Given the description of an element on the screen output the (x, y) to click on. 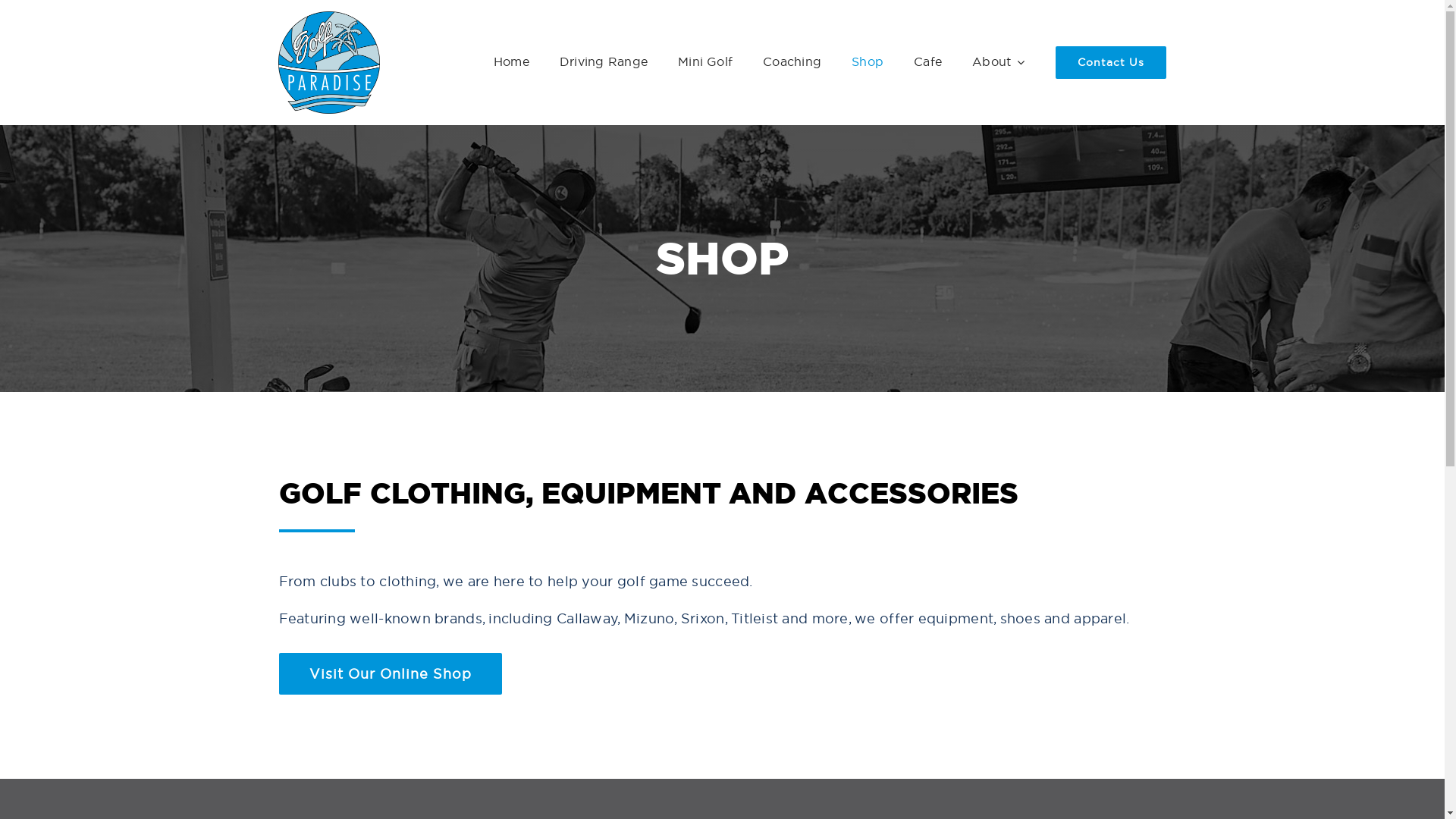
Coaching Element type: text (791, 61)
About Element type: text (998, 61)
Visit Our Online Shop Element type: text (390, 673)
Mini Golf Element type: text (704, 61)
Shop Element type: text (867, 61)
Contact Us Element type: text (1110, 61)
Driving Range Element type: text (603, 61)
Home Element type: text (511, 61)
Cafe Element type: text (927, 61)
